Given the description of an element on the screen output the (x, y) to click on. 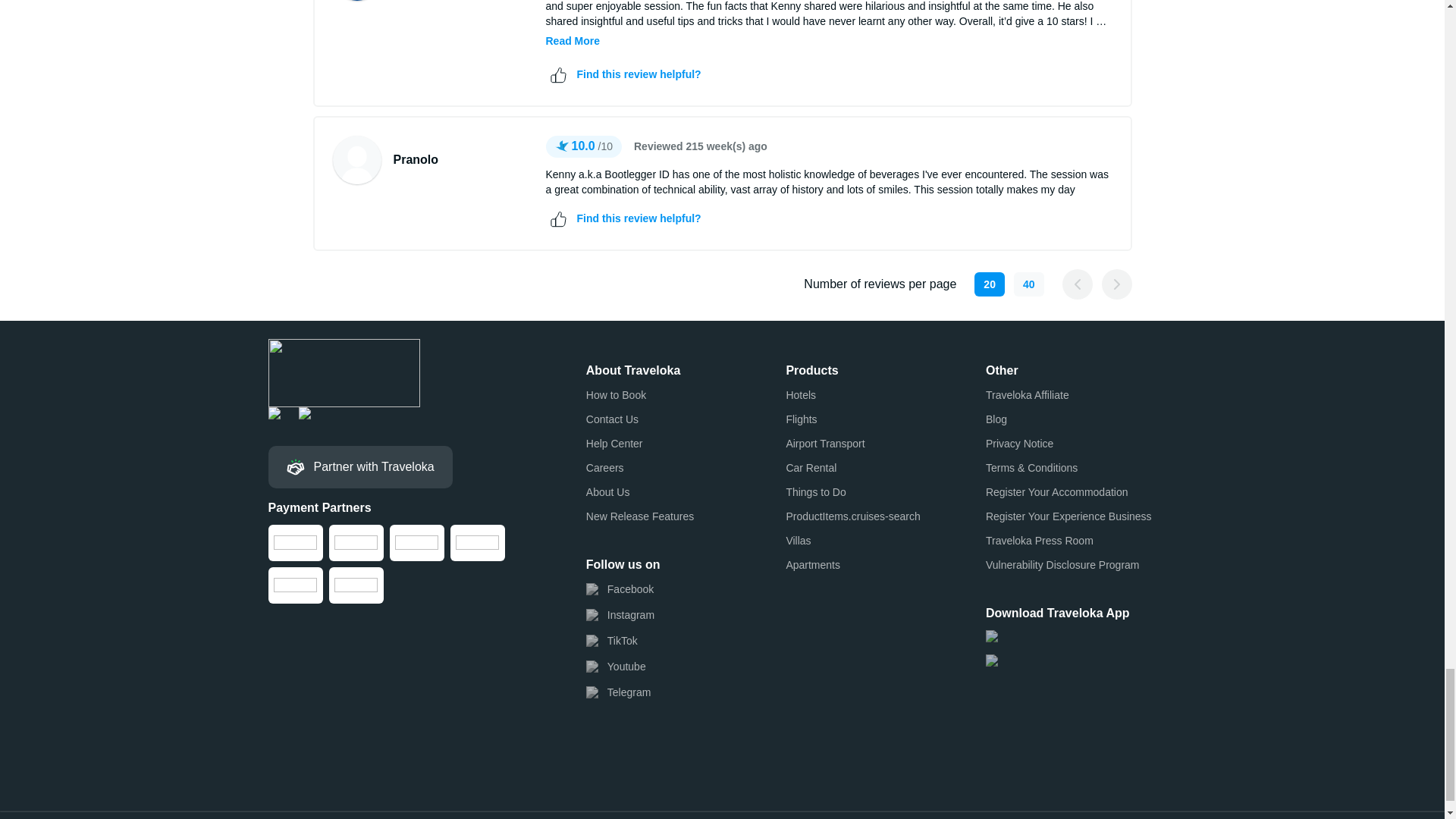
Contact Us (612, 418)
Partner with Traveloka (359, 466)
Blog (996, 418)
Help Center (614, 443)
Careers (605, 467)
Apartments (813, 564)
Airport Transport (825, 443)
Traveloka Affiliate (1026, 394)
About Us (608, 491)
Facebook (619, 589)
Hotels (800, 394)
Instagram (619, 614)
Privacy Notice (1018, 443)
Car Rental (810, 467)
Register Your Accommodation (1056, 491)
